Given the description of an element on the screen output the (x, y) to click on. 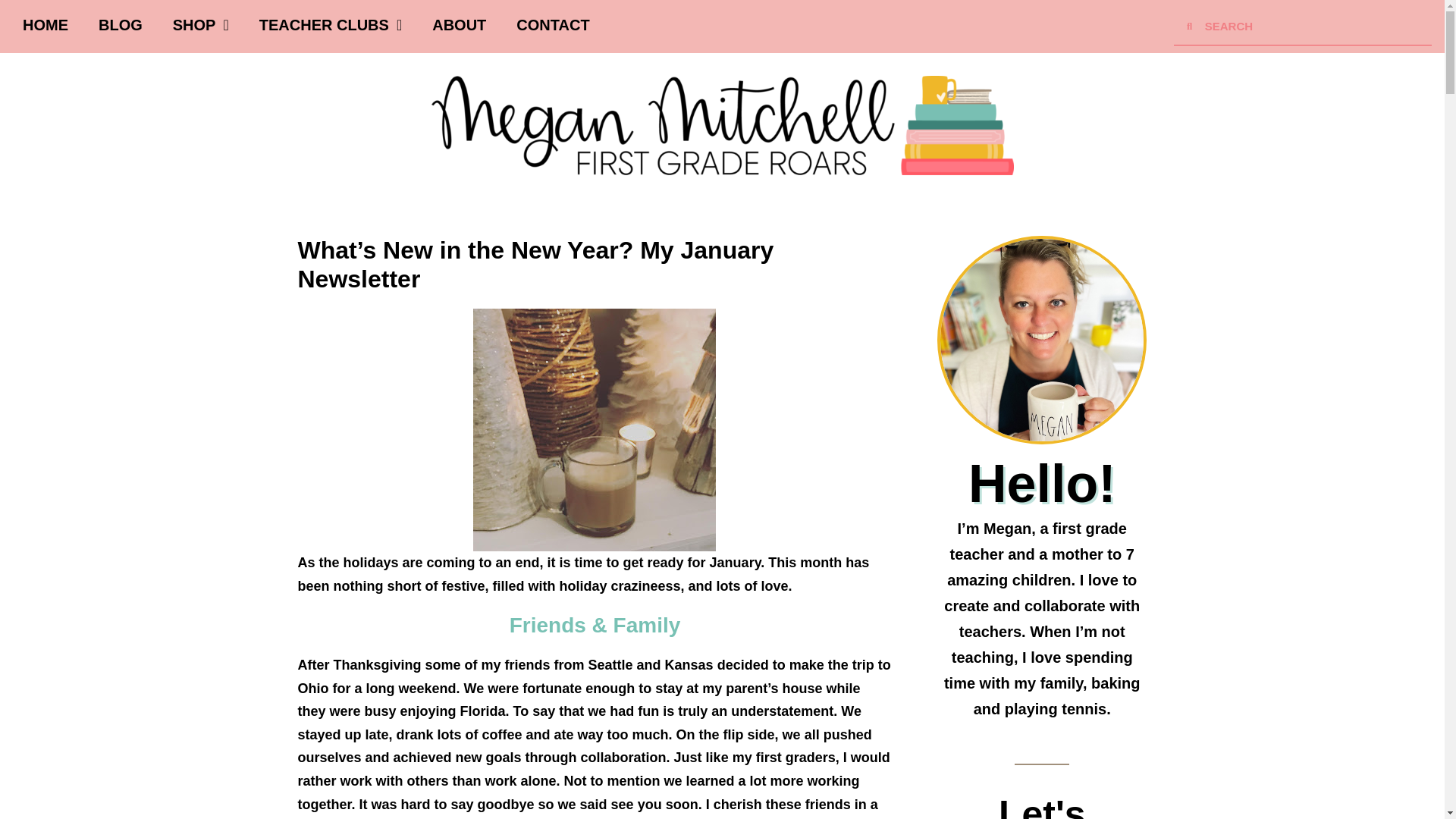
SHOP (200, 24)
TEACHER CLUBS (330, 24)
ABOUT (458, 24)
BLOG (119, 24)
What's New in the New Year? My January Newsletter (594, 429)
HOME (44, 24)
CONTACT (552, 24)
